Given the description of an element on the screen output the (x, y) to click on. 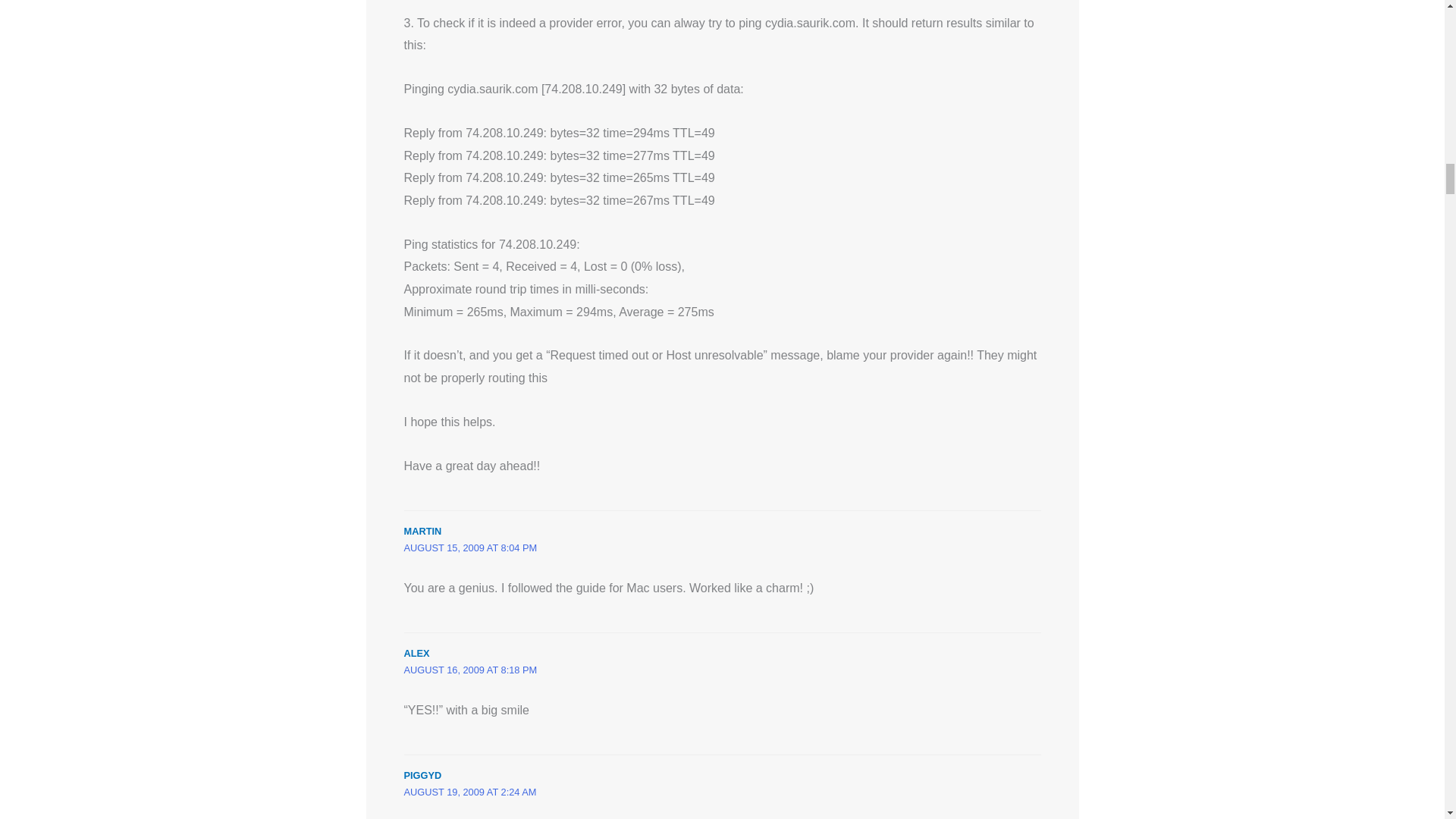
AUGUST 16, 2009 AT 8:18 PM (470, 669)
AUGUST 19, 2009 AT 2:24 AM (469, 791)
AUGUST 15, 2009 AT 8:04 PM (470, 547)
